Given the description of an element on the screen output the (x, y) to click on. 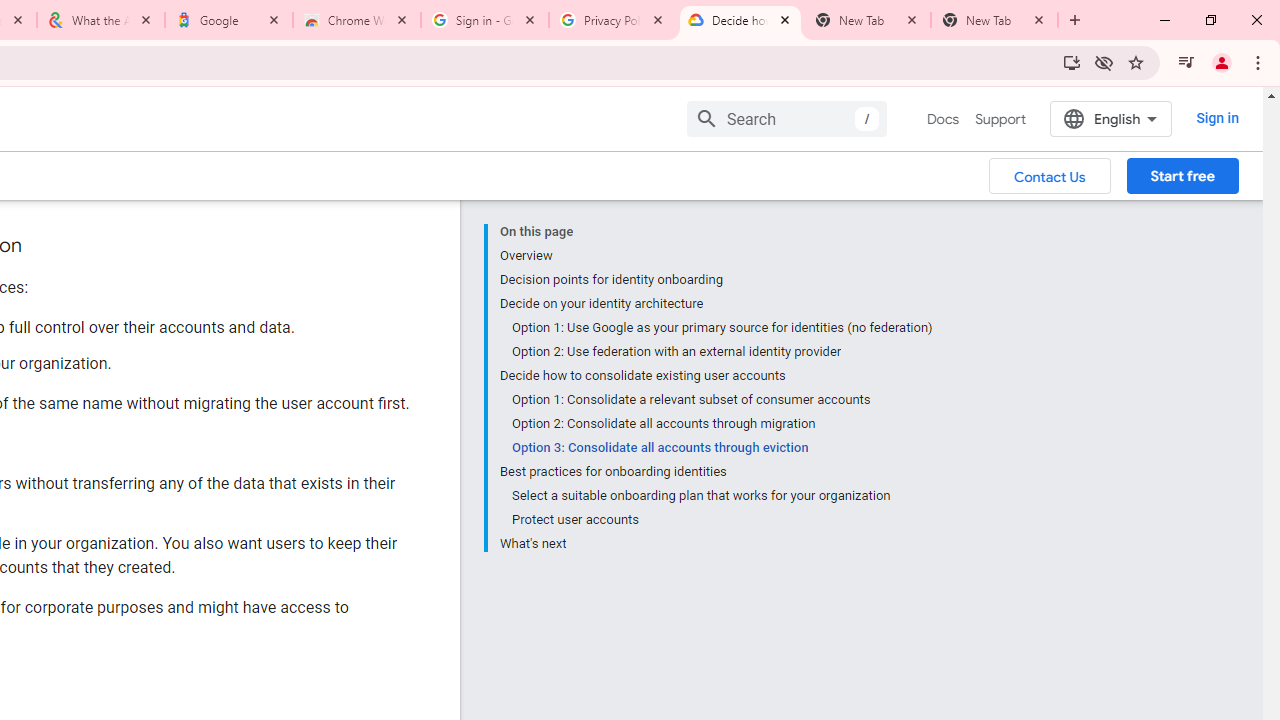
Chrome Web Store - Color themes by Chrome (357, 20)
Option 2: Use federation with an external identity provider (721, 351)
Google (229, 20)
Decide how to consolidate existing user accounts (716, 376)
English (1110, 118)
New Tab (994, 20)
